Given the description of an element on the screen output the (x, y) to click on. 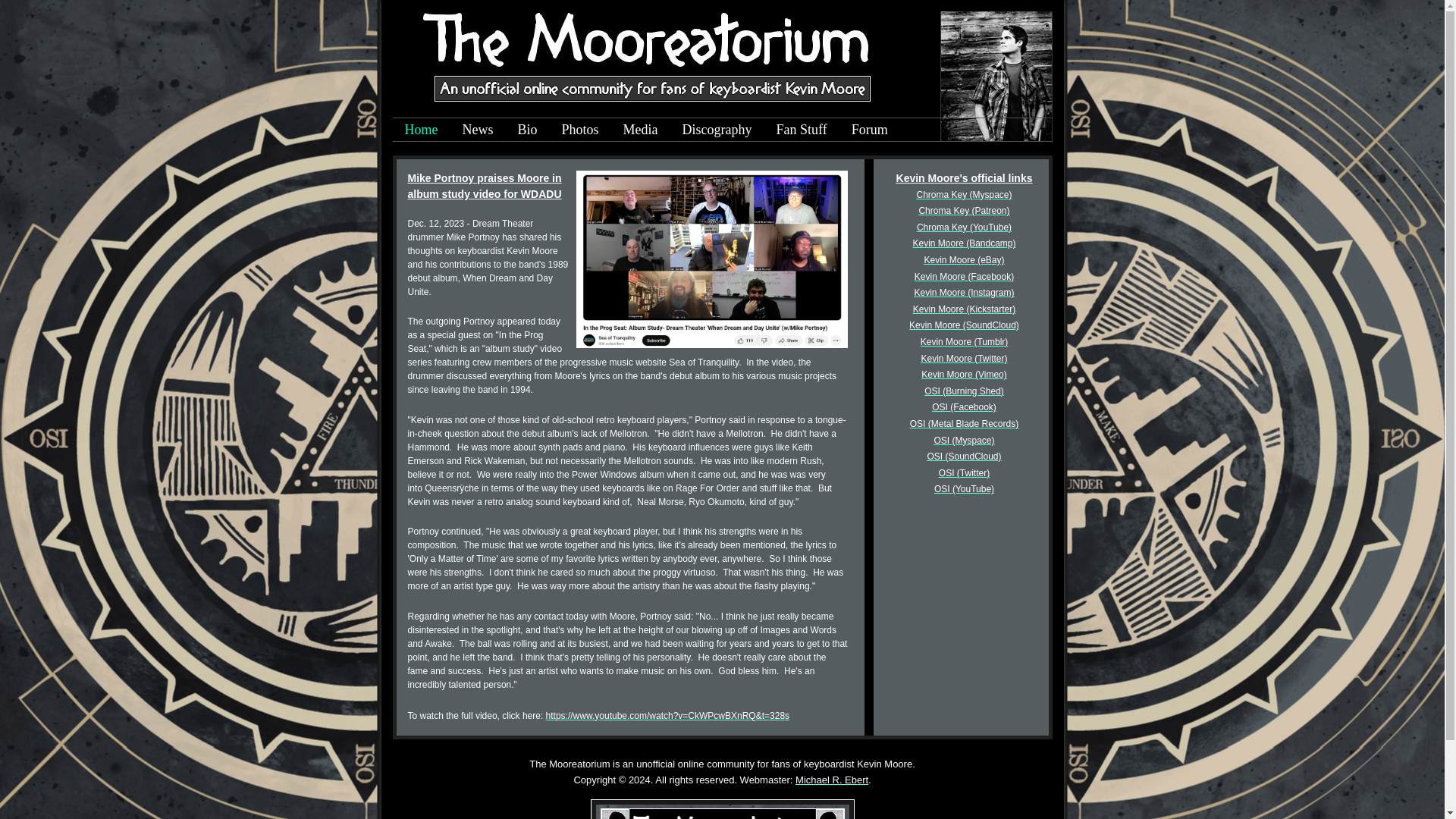
Kevin (924, 308)
News (477, 128)
Photos (580, 128)
Kevin (921, 325)
Media (640, 128)
Photos (580, 128)
Forum (869, 128)
Kevin (933, 374)
Kevin (926, 276)
Discography (716, 128)
News (477, 128)
Media (640, 128)
Discography (716, 128)
Fan Stuff (802, 128)
Bio (526, 128)
